Given the description of an element on the screen output the (x, y) to click on. 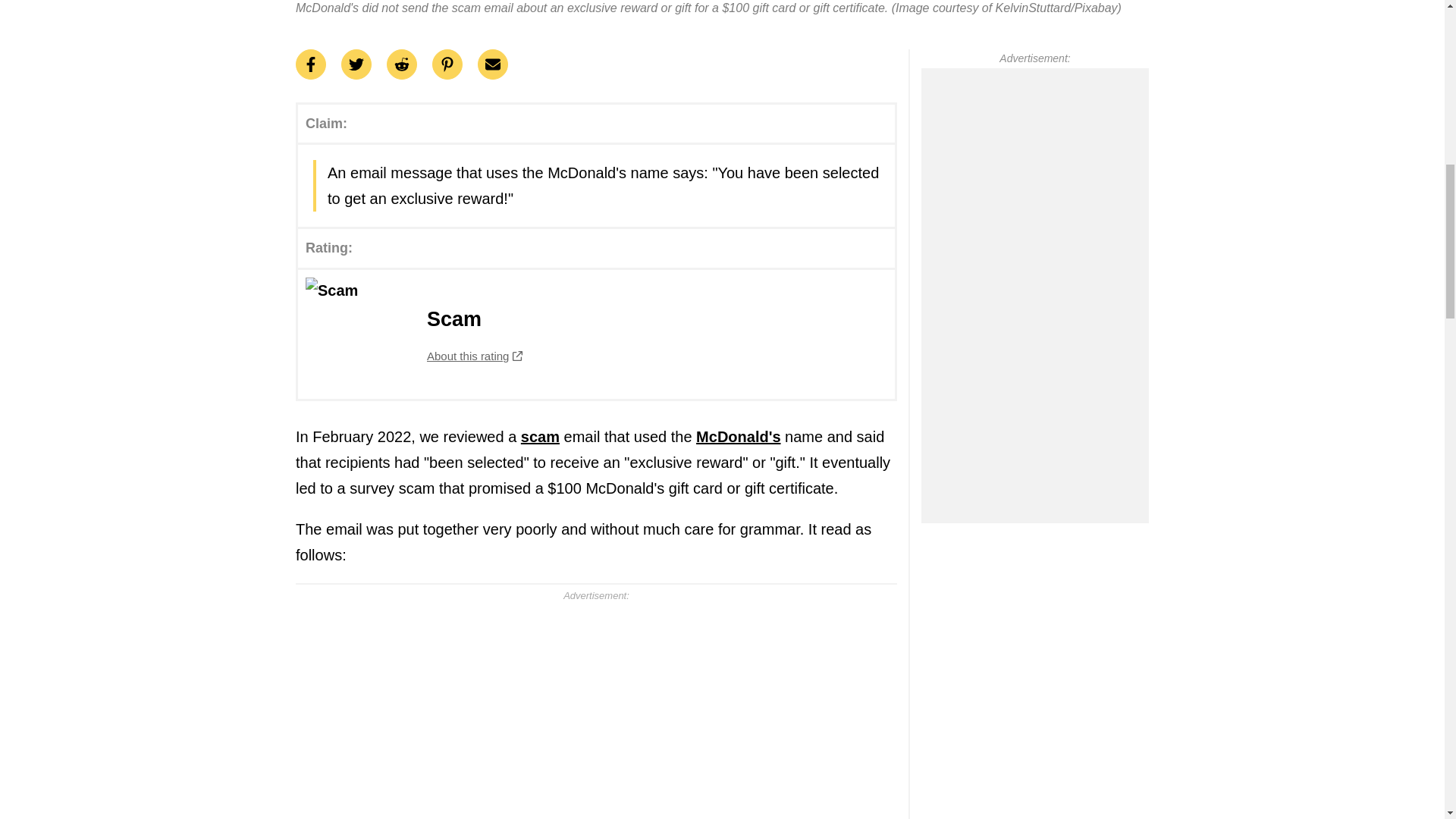
scam (595, 334)
